Given the description of an element on the screen output the (x, y) to click on. 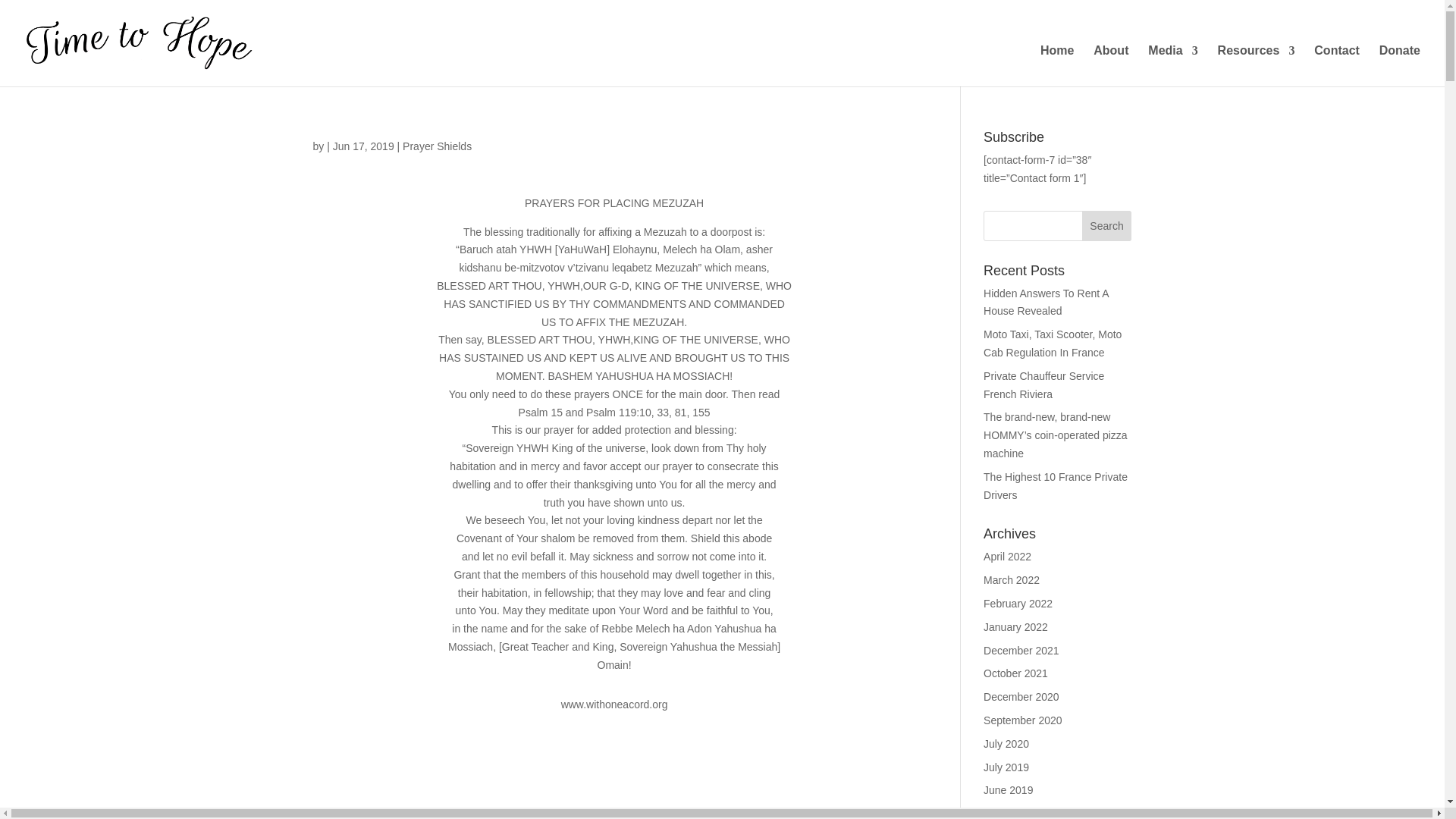
Contact (1336, 65)
Private Chauffeur Service French Riviera (1043, 385)
Prayer Shields (437, 146)
Search (1106, 225)
Media (1172, 65)
Moto Taxi, Taxi Scooter, Moto Cab Regulation In France (1052, 343)
Hidden Answers To Rent A House Revealed (1046, 302)
The Highest 10 France Private Drivers (1055, 485)
Resources (1256, 65)
Donate (1399, 65)
Search (1106, 225)
